Given the description of an element on the screen output the (x, y) to click on. 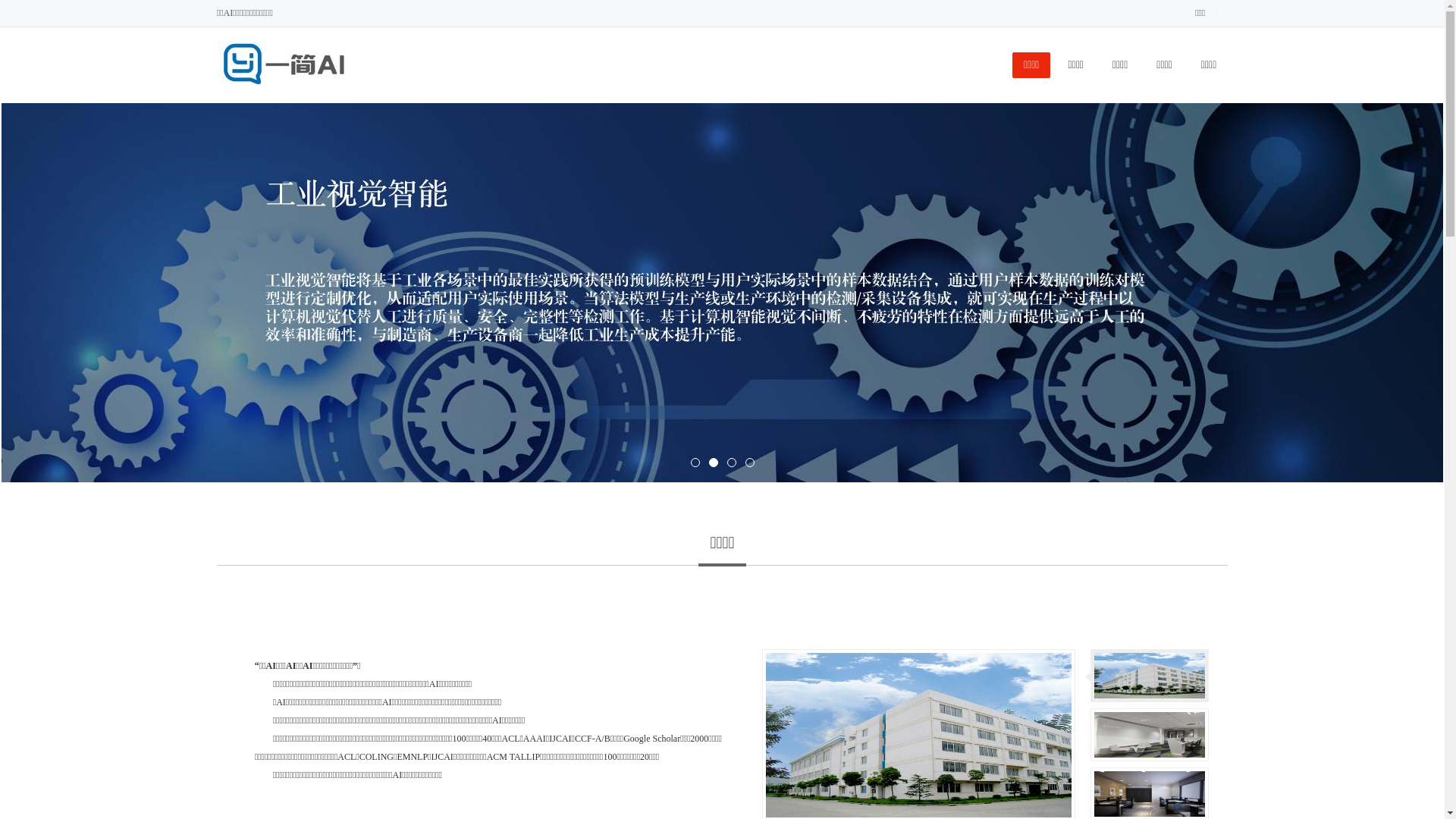
4 Element type: text (748, 462)
1 Element type: text (694, 462)
3 Element type: text (730, 462)
2 Element type: text (712, 462)
